Given the description of an element on the screen output the (x, y) to click on. 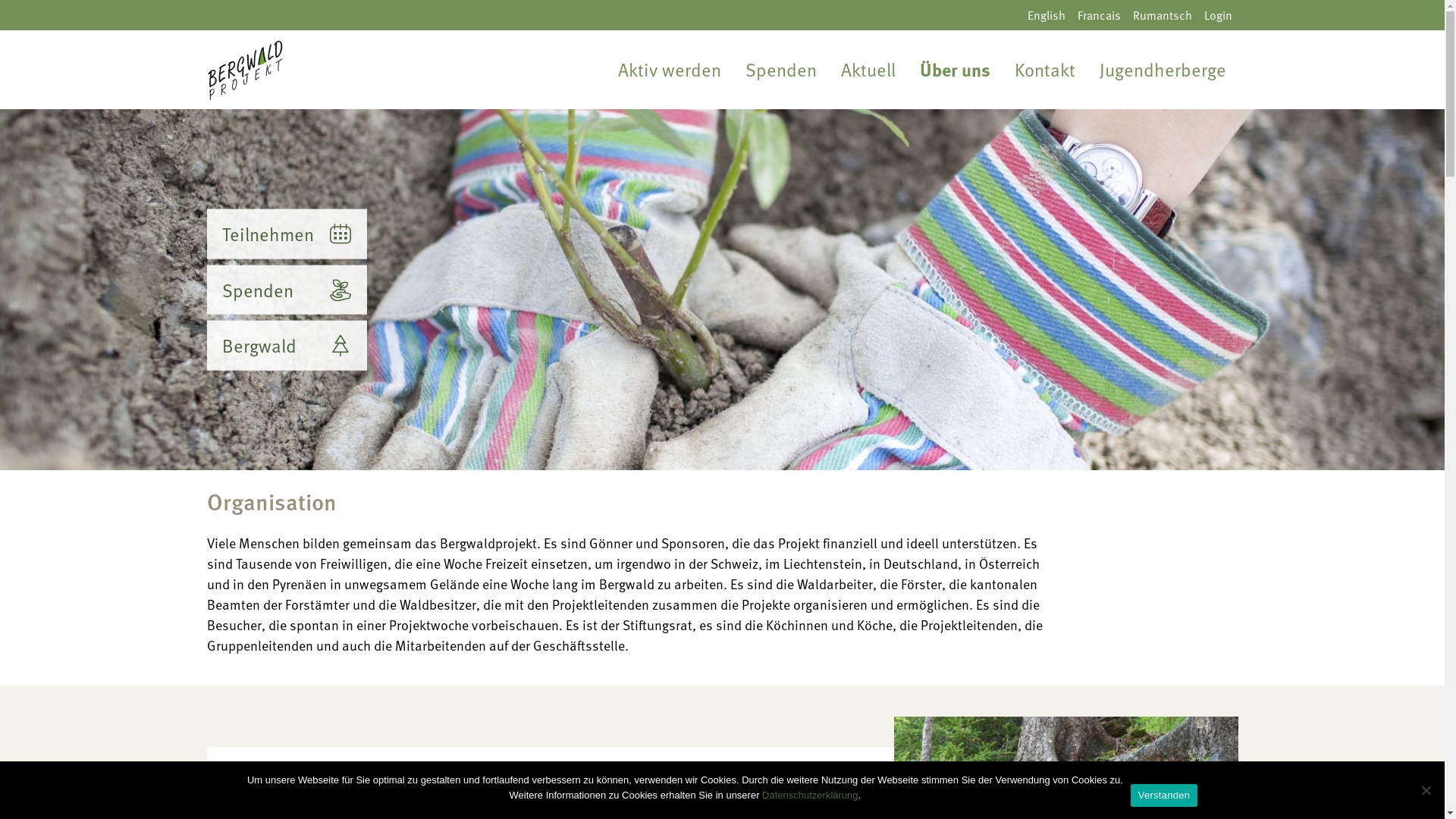
English Element type: text (1045, 15)
Spenden Element type: text (780, 69)
Rumantsch Element type: text (1162, 15)
Jugendherberge Element type: text (1162, 69)
Teilnehmen Element type: text (286, 234)
Spenden Element type: text (286, 289)
Aktiv werden Element type: text (668, 69)
Login Element type: text (1218, 15)
Aktuell Element type: text (867, 69)
Bergwald Element type: text (286, 345)
No Element type: hover (1425, 789)
Francais Element type: text (1098, 15)
Verstanden Element type: text (1163, 795)
Kontakt Element type: text (1044, 69)
